Given the description of an element on the screen output the (x, y) to click on. 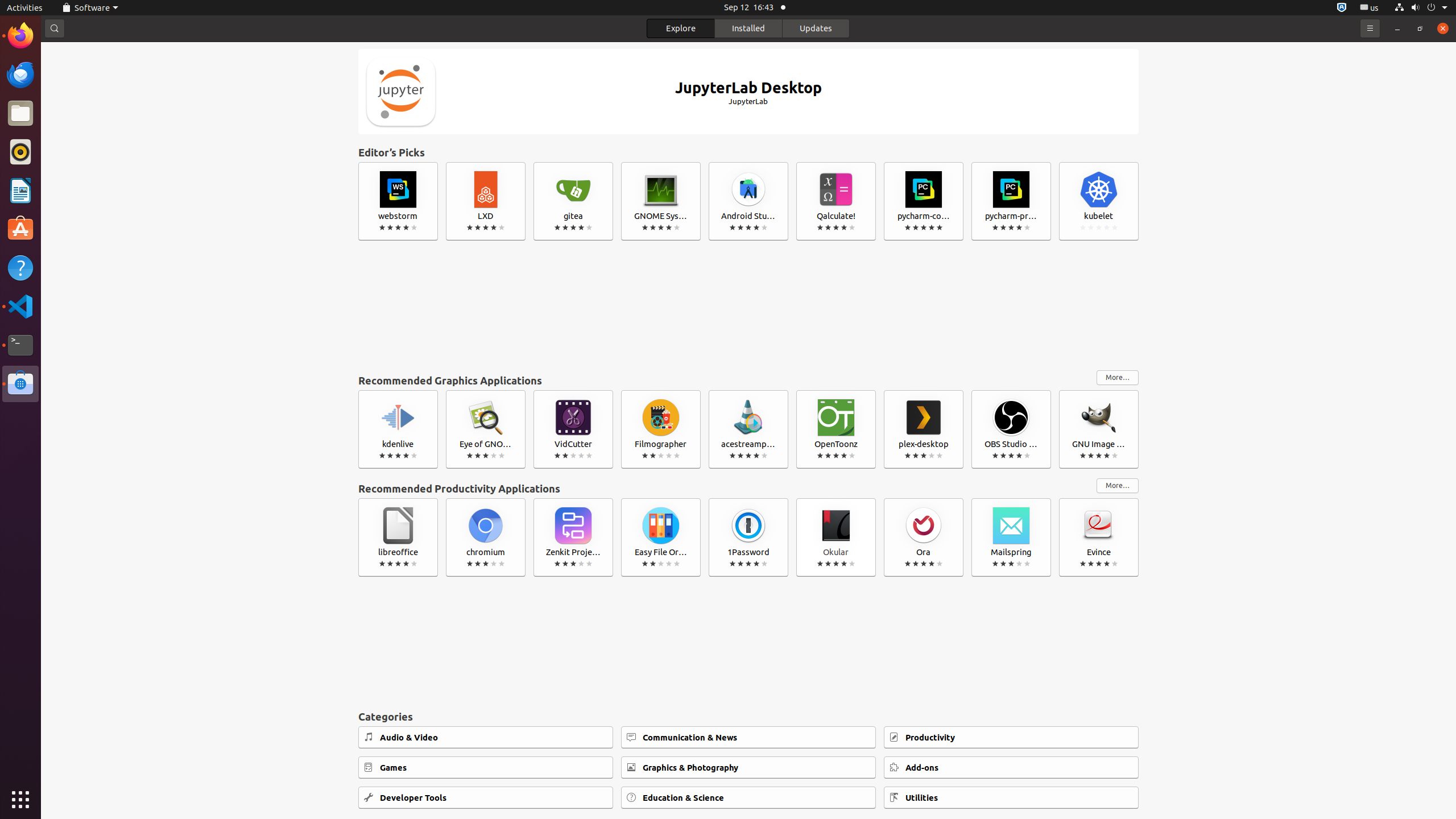
Productivity Element type: push-button (1010, 737)
libreoffice Element type: push-button (397, 537)
IsaHelpMain.desktop Element type: label (75, 170)
JupyterLab Desktop Element type: push-button (748, 91)
kdenlive Element type: push-button (397, 429)
